Given the description of an element on the screen output the (x, y) to click on. 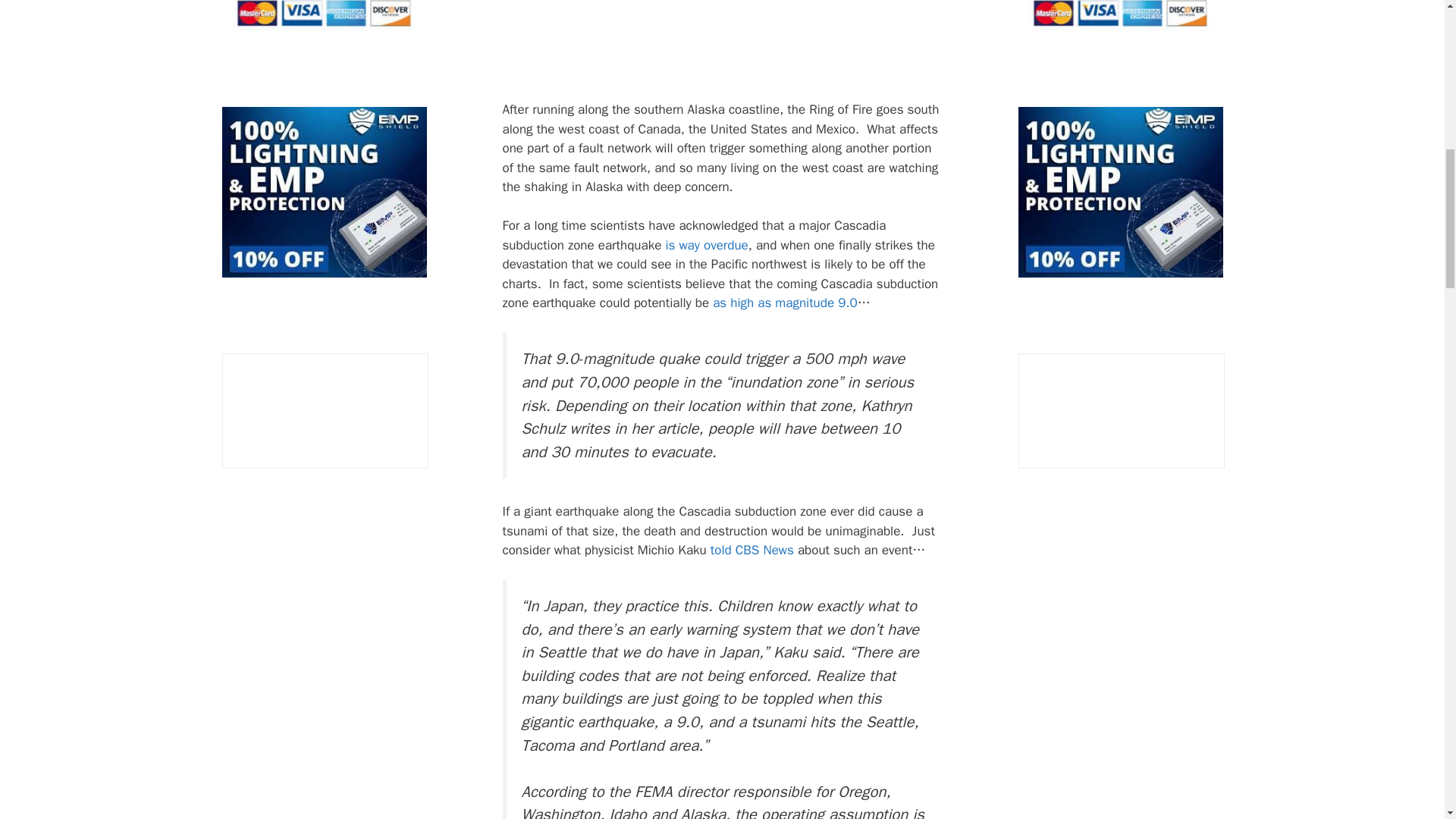
is way overdue (706, 245)
is way overdue (706, 245)
as high as magnitude 9.0 (785, 302)
told CBS News (751, 549)
told CBS News (751, 549)
as high as magnitude 9.0 (785, 302)
Advertisement (756, 46)
